Given the description of an element on the screen output the (x, y) to click on. 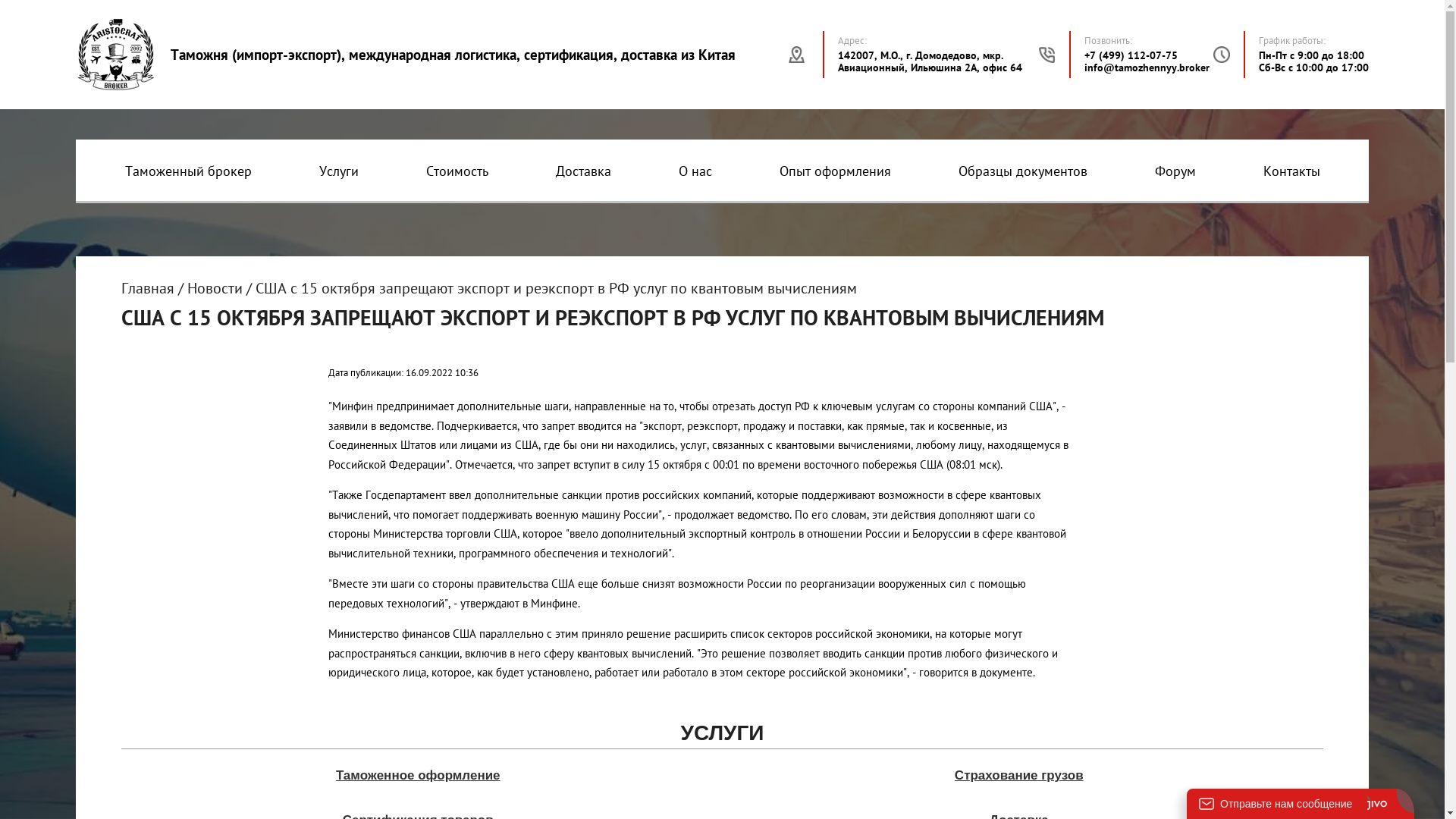
info@tamozhennyy.broker Element type: text (1146, 67)
+7 (499) 112-07-75 Element type: text (1130, 55)
